Given the description of an element on the screen output the (x, y) to click on. 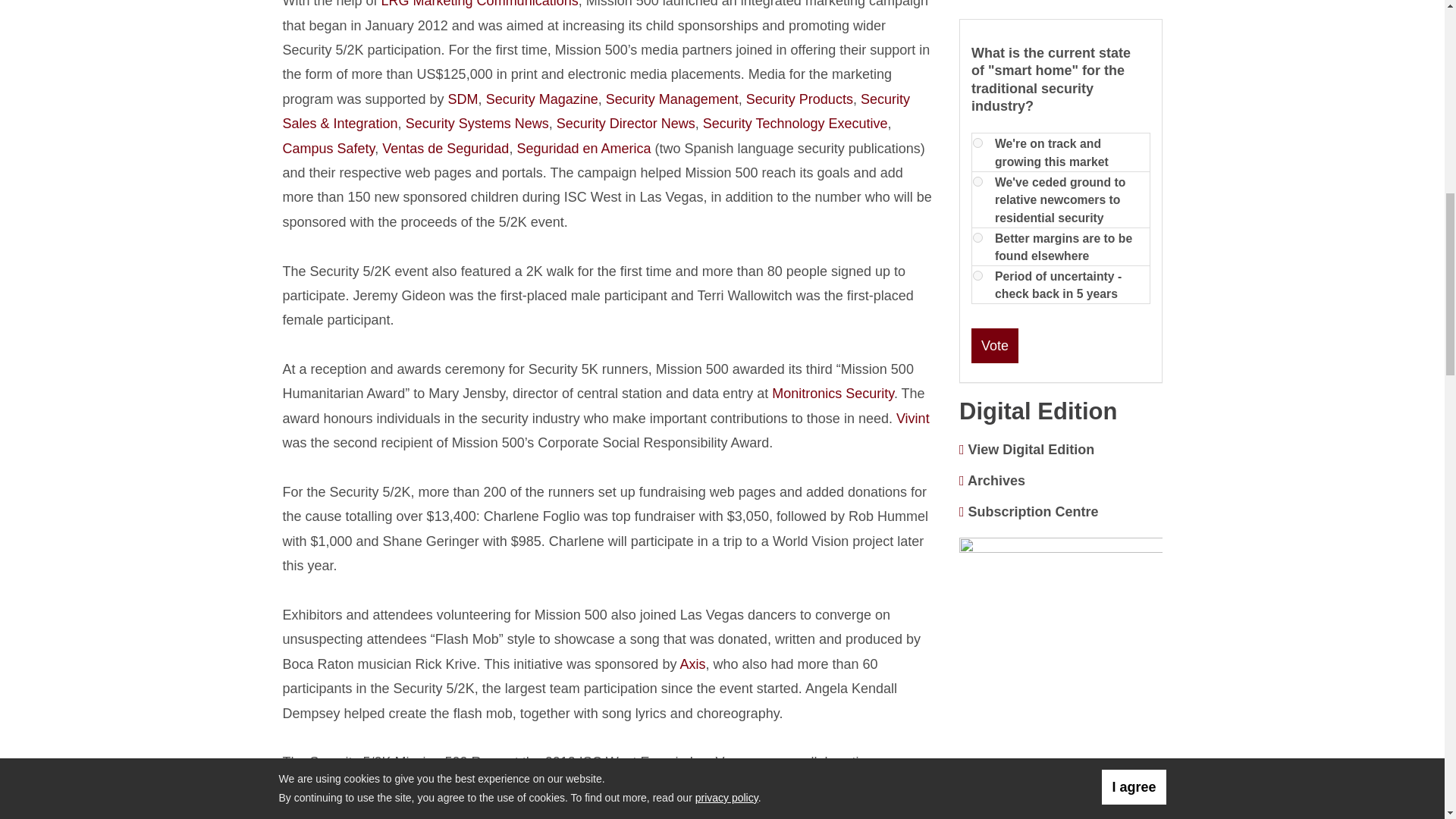
gpoll16eca7826 (977, 181)
Vote (994, 345)
gpoll156cbdbc4 (977, 143)
gpoll1ef286767 (977, 237)
gpoll184b400fc (977, 275)
